Given the description of an element on the screen output the (x, y) to click on. 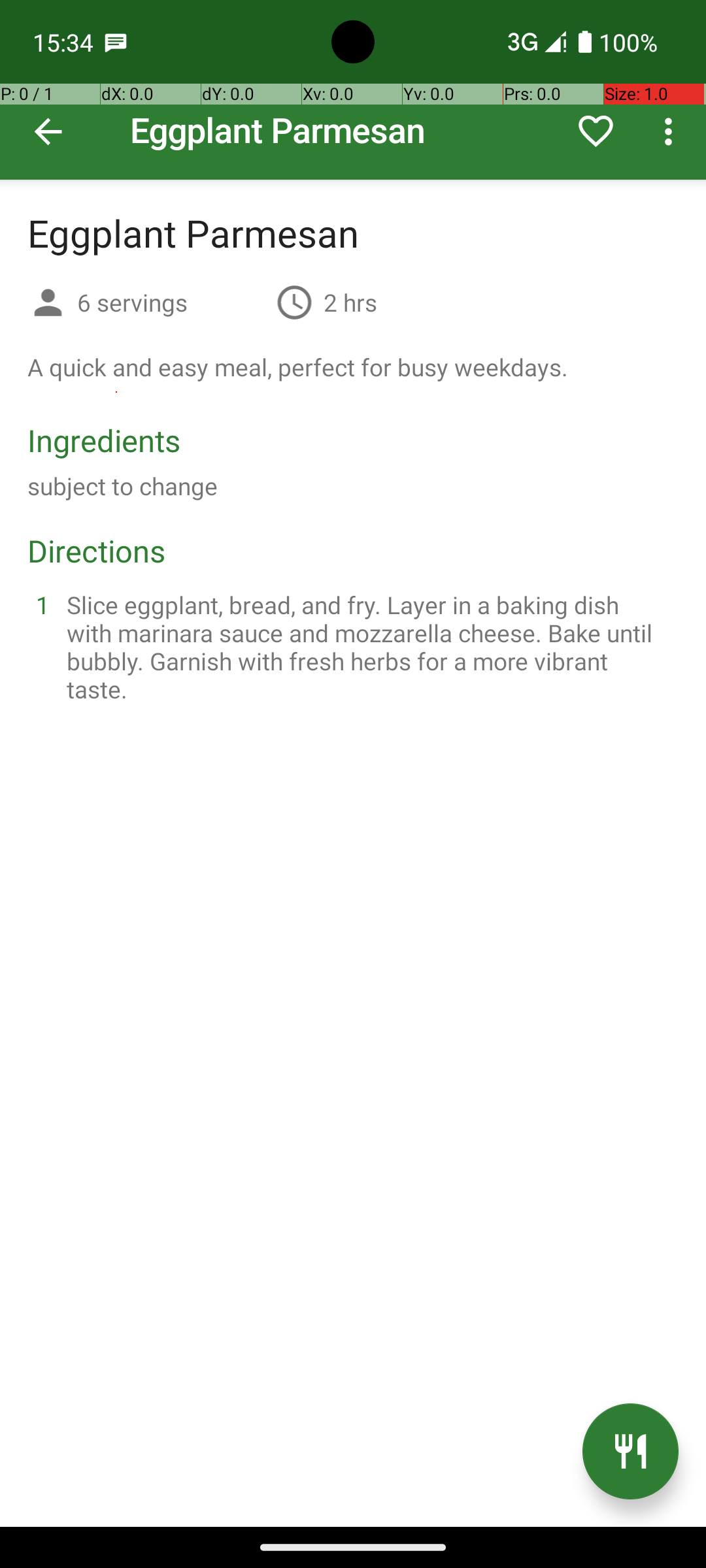
2 hrs Element type: android.widget.TextView (350, 301)
subject to change Element type: android.widget.TextView (122, 485)
Slice eggplant, bread, and fry. Layer in a baking dish with marinara sauce and mozzarella cheese. Bake until bubbly. Garnish with fresh herbs for a more vibrant taste. Element type: android.widget.TextView (368, 646)
